Given the description of an element on the screen output the (x, y) to click on. 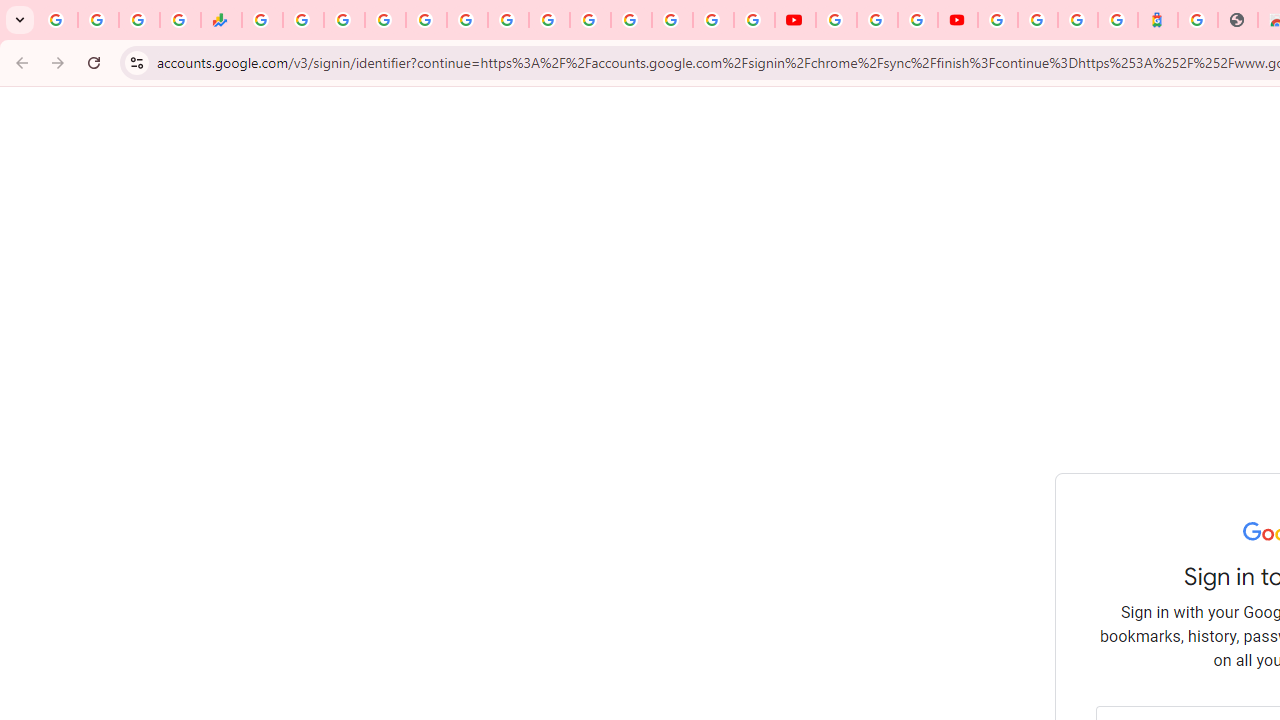
Sign in - Google Accounts (1037, 20)
Privacy Checkup (753, 20)
